Given the description of an element on the screen output the (x, y) to click on. 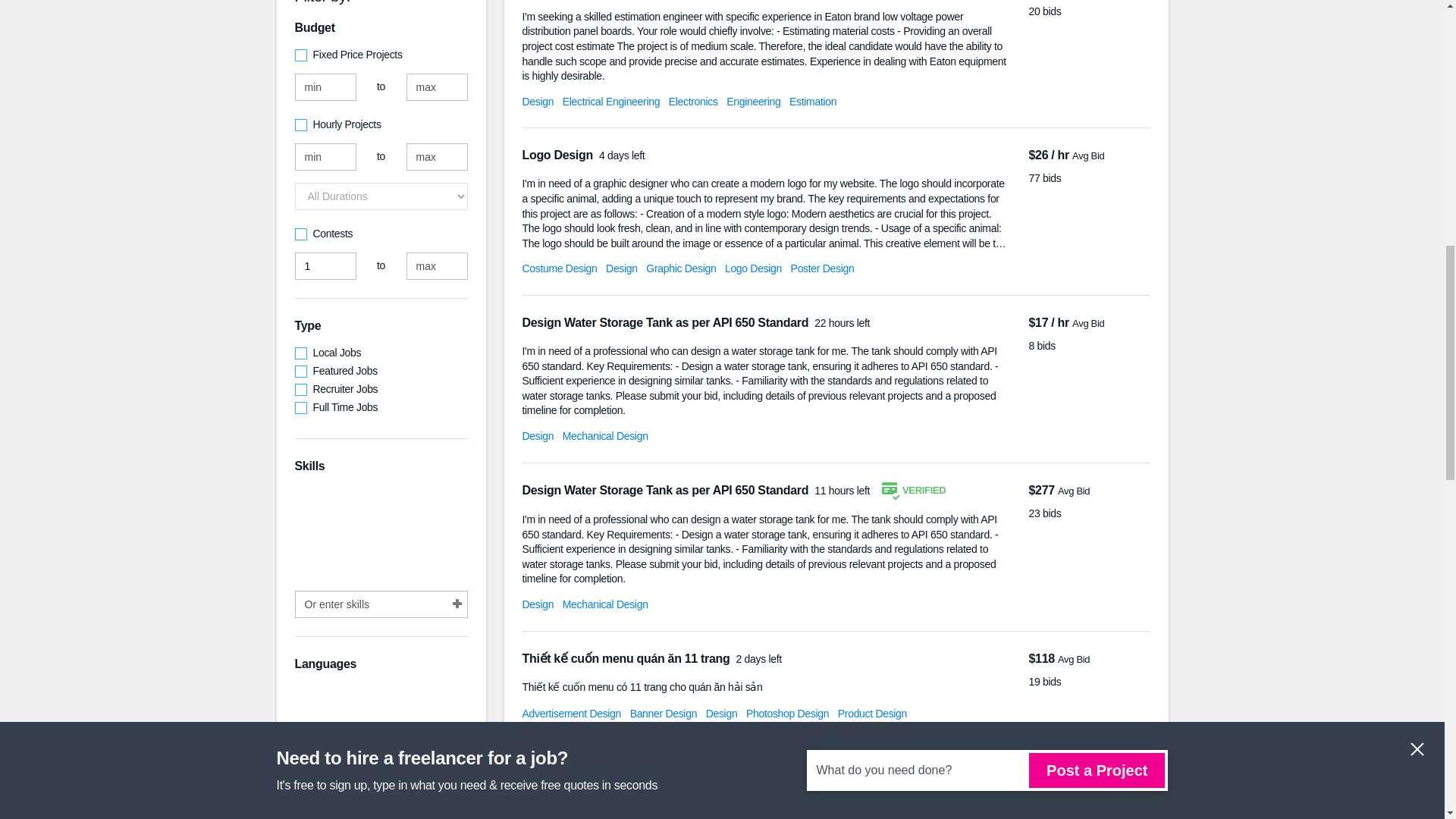
Design Water Storage Tank as per API 650 Standard (665, 322)
Logo Design (753, 268)
Costume Design (558, 268)
Poster Design (822, 268)
Logo Design (558, 154)
Estimation (812, 101)
Design (537, 101)
Mechanical Design (604, 435)
Design Water Storage Tank as per API 650 Standard (665, 490)
1 (324, 266)
Design (537, 604)
Electrical Engineering (610, 101)
Design (537, 435)
Graphic Design (681, 268)
Mechanical Design (604, 604)
